Given the description of an element on the screen output the (x, y) to click on. 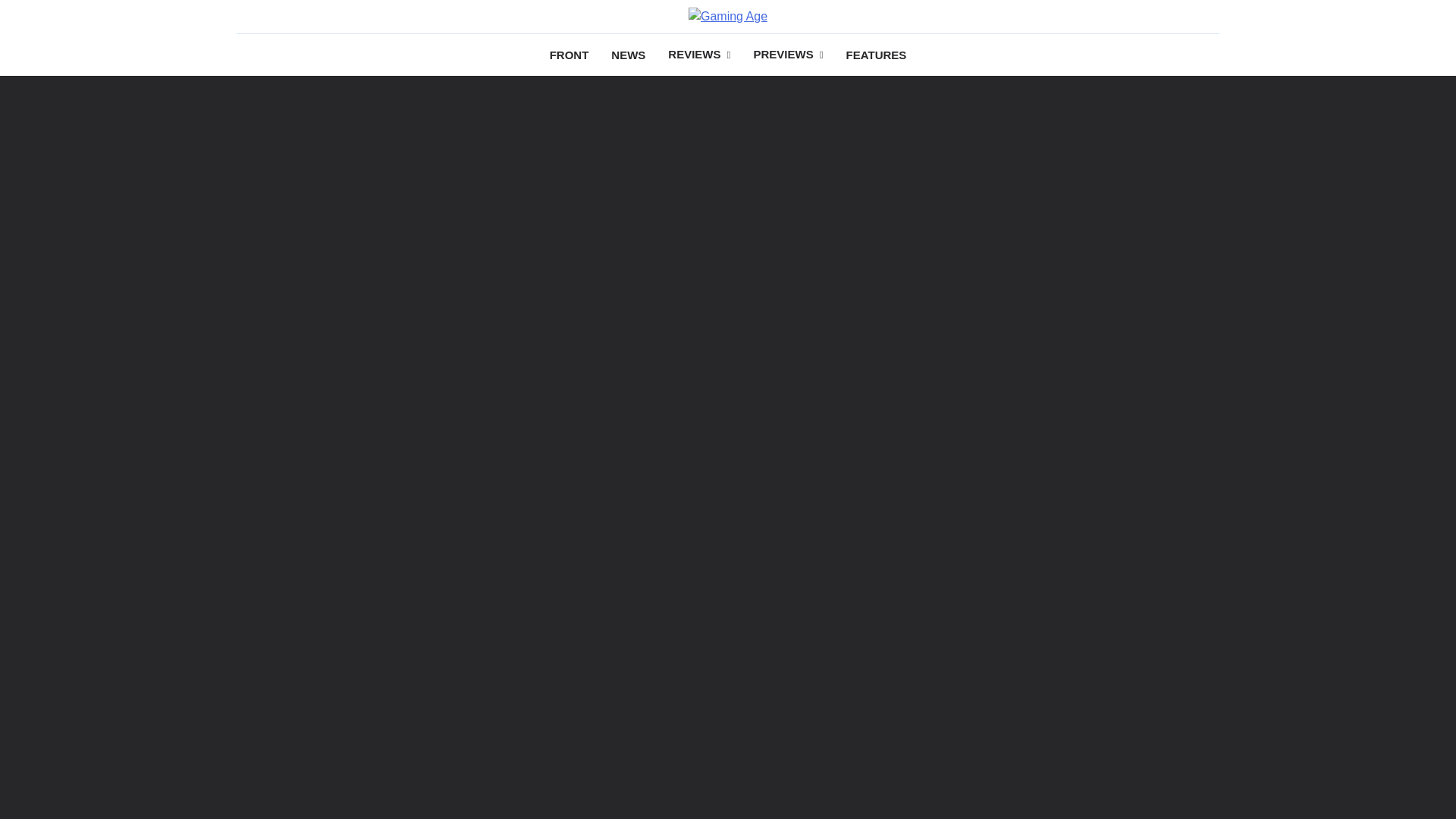
Gaming Age (576, 42)
NEWS (627, 55)
FEATURES (876, 55)
FRONT (568, 55)
PREVIEWS (787, 55)
REVIEWS (698, 55)
